Given the description of an element on the screen output the (x, y) to click on. 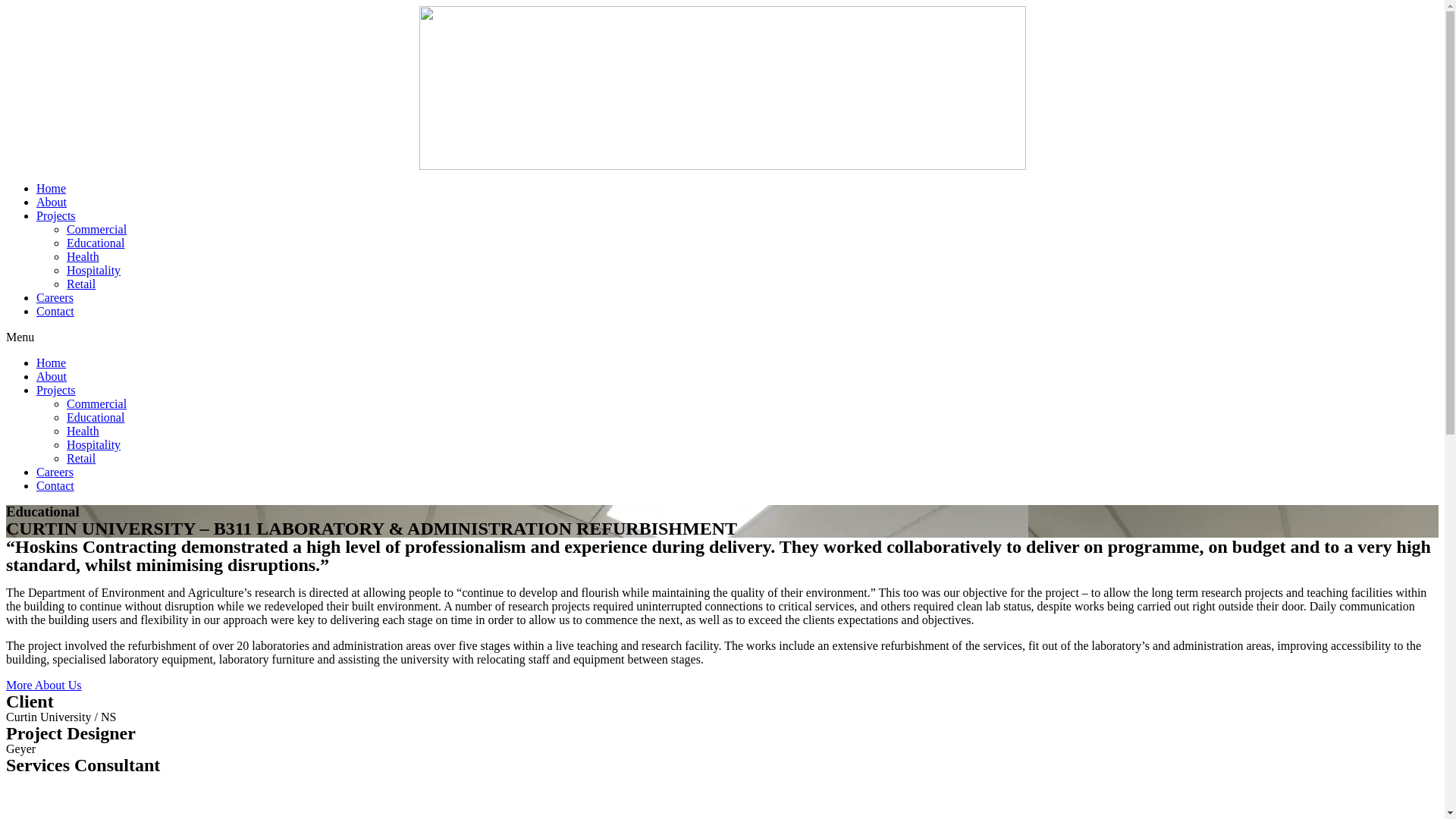
Hospitality Element type: text (93, 444)
Projects Element type: text (55, 215)
Educational Element type: text (95, 242)
Retail Element type: text (80, 283)
Home Element type: text (50, 362)
Careers Element type: text (54, 471)
Projects Element type: text (55, 389)
Contact Element type: text (55, 485)
Hospitality Element type: text (93, 269)
About Element type: text (51, 201)
Commercial Element type: text (96, 228)
Health Element type: text (82, 256)
Careers Element type: text (54, 297)
More About Us Element type: text (43, 684)
Home Element type: text (50, 188)
About Element type: text (51, 376)
Educational Element type: text (95, 417)
Retail Element type: text (80, 457)
Commercial Element type: text (96, 403)
Health Element type: text (82, 430)
Contact Element type: text (55, 310)
